Given the description of an element on the screen output the (x, y) to click on. 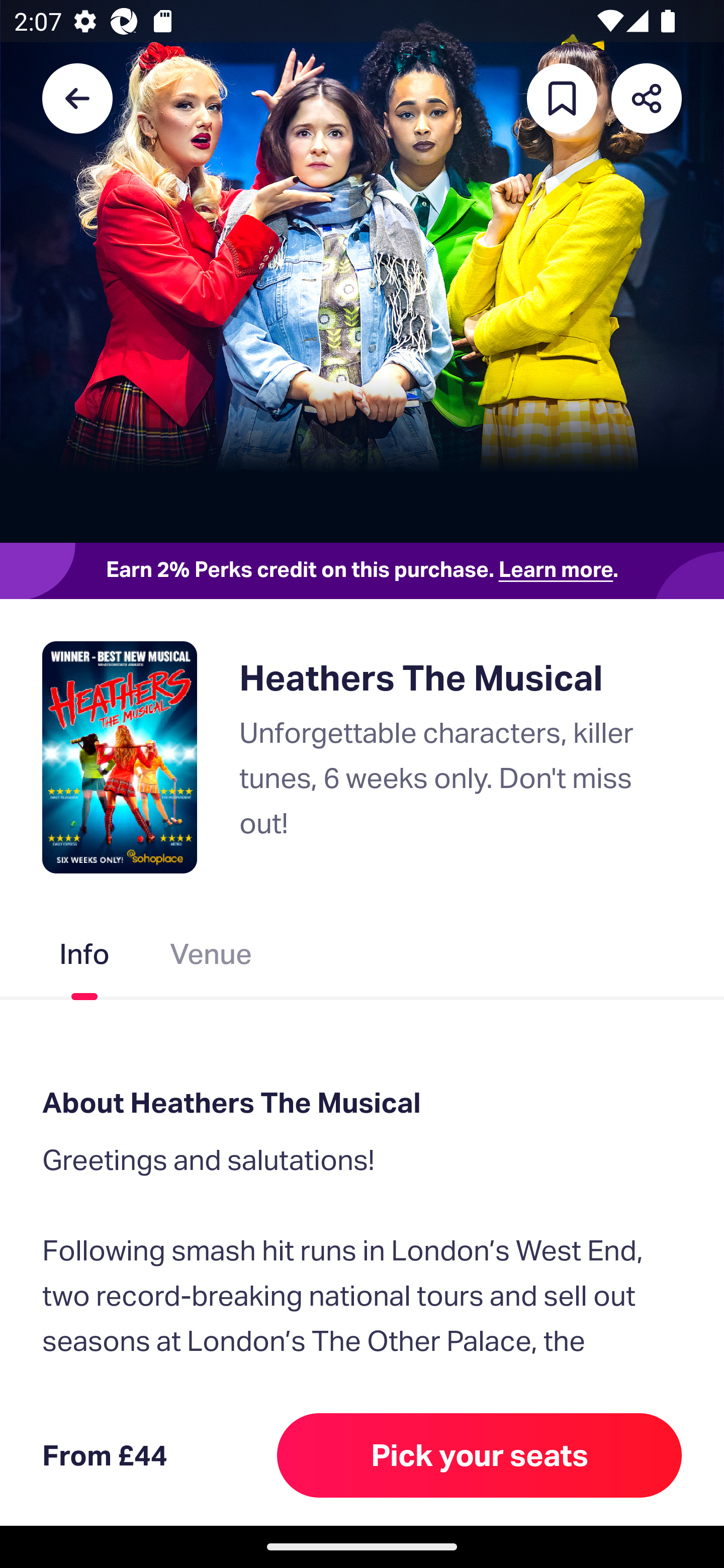
Earn 2% Perks credit on this purchase. Learn more. (362, 570)
Venue (210, 957)
About Heathers The Musical (361, 1103)
Pick your seats (479, 1454)
